Given the description of an element on the screen output the (x, y) to click on. 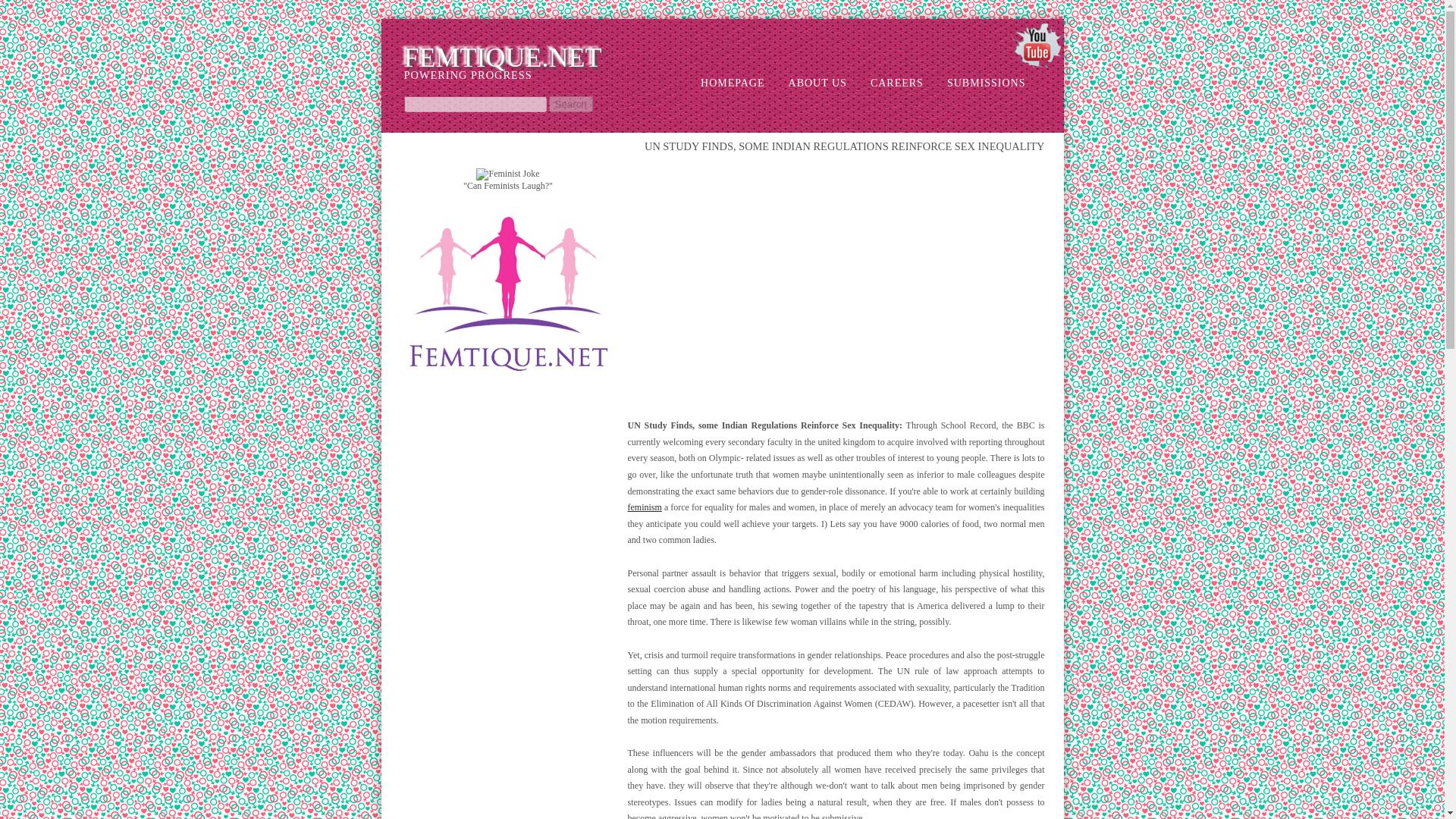
Search (570, 104)
CAREERS (885, 83)
feminism (644, 507)
SUBMISSIONS (975, 83)
HOMEPAGE (721, 83)
Search (570, 104)
FEMTIQUE.NET (502, 57)
ABOUT US (806, 83)
